Given the description of an element on the screen output the (x, y) to click on. 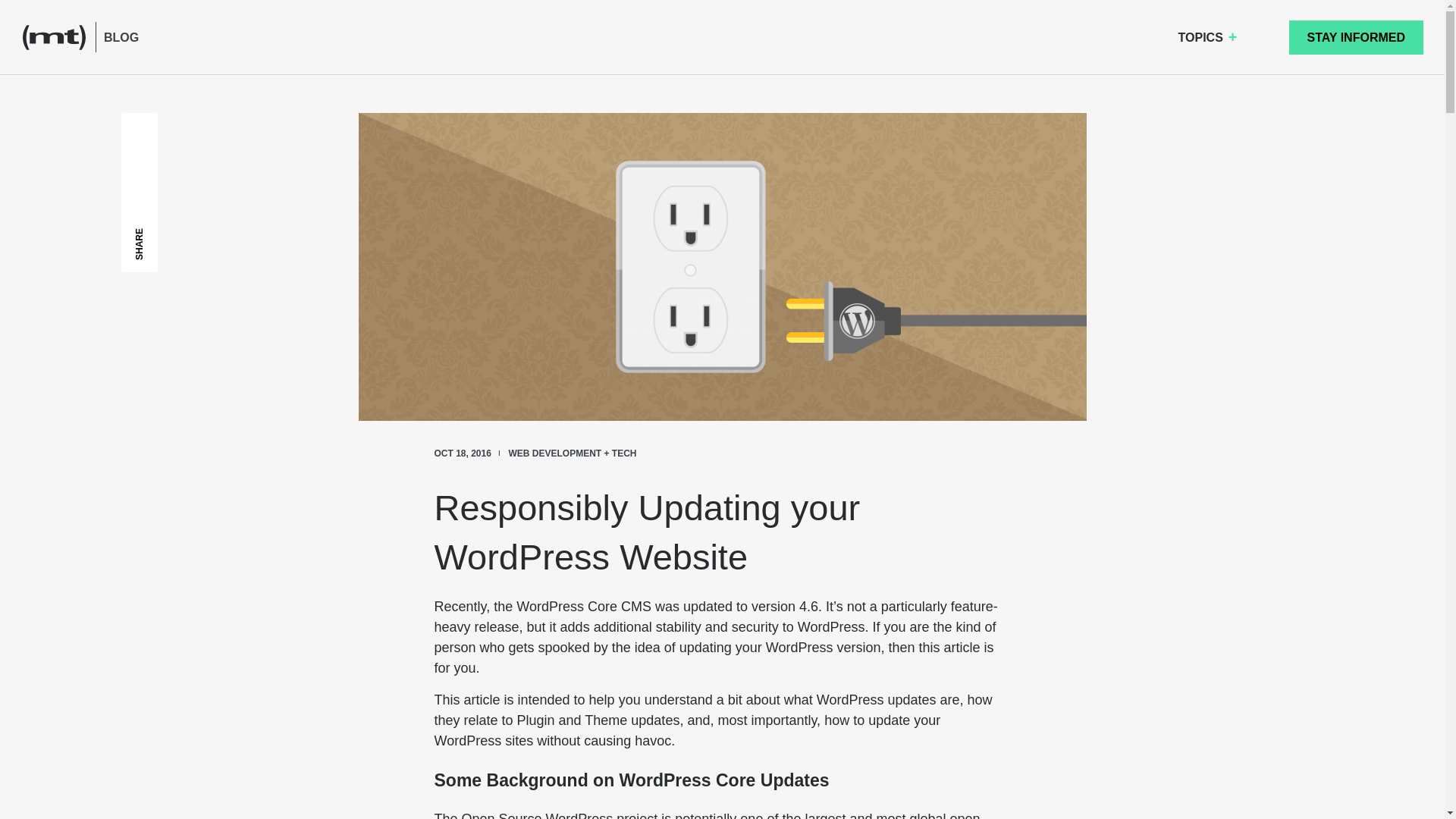
BLOG (120, 36)
STAY INFORMED (1355, 36)
